Given the description of an element on the screen output the (x, y) to click on. 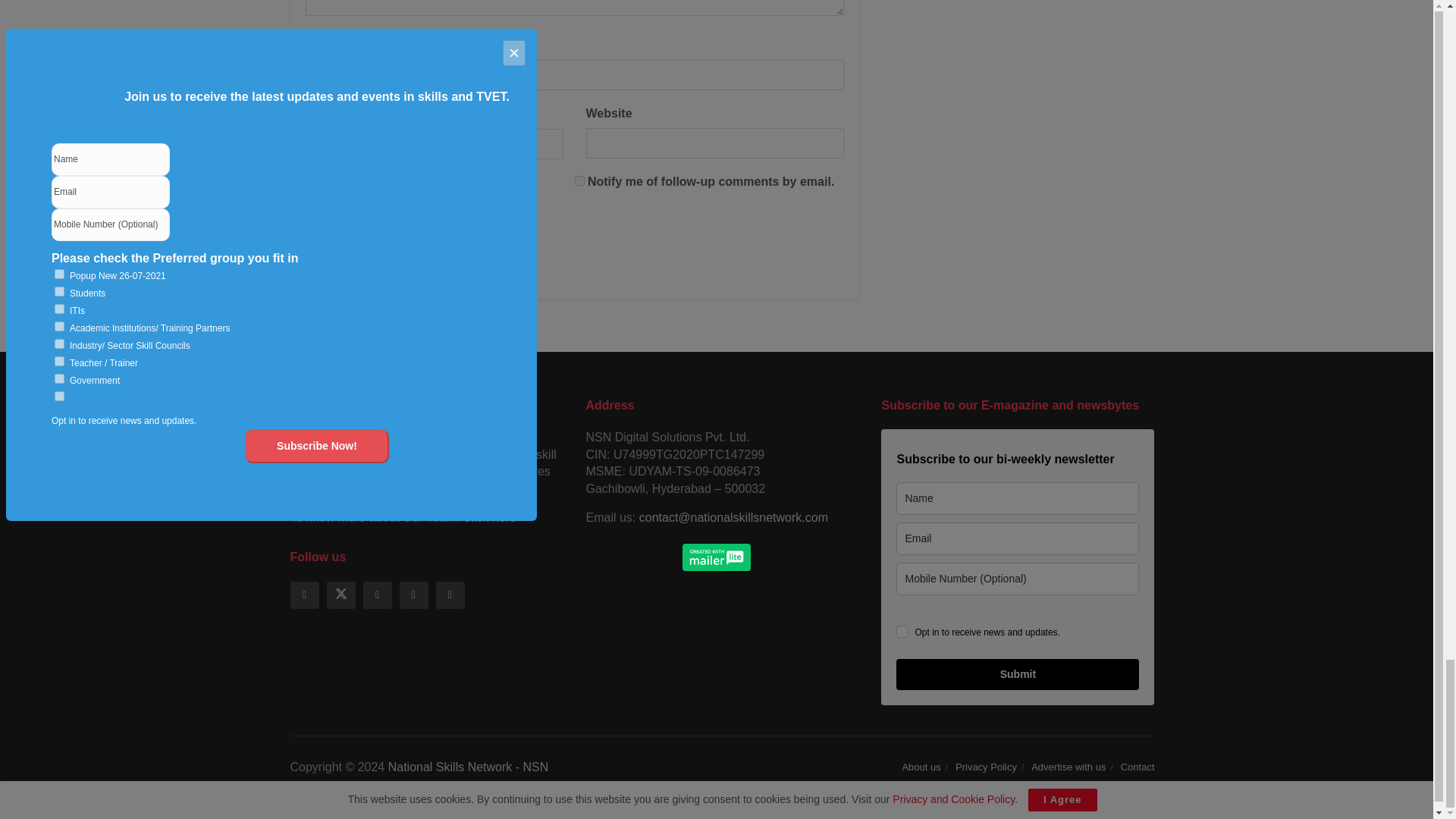
subscribe (309, 213)
National Skills Network (468, 766)
subscribe (580, 180)
Post Comment (364, 253)
